Given the description of an element on the screen output the (x, y) to click on. 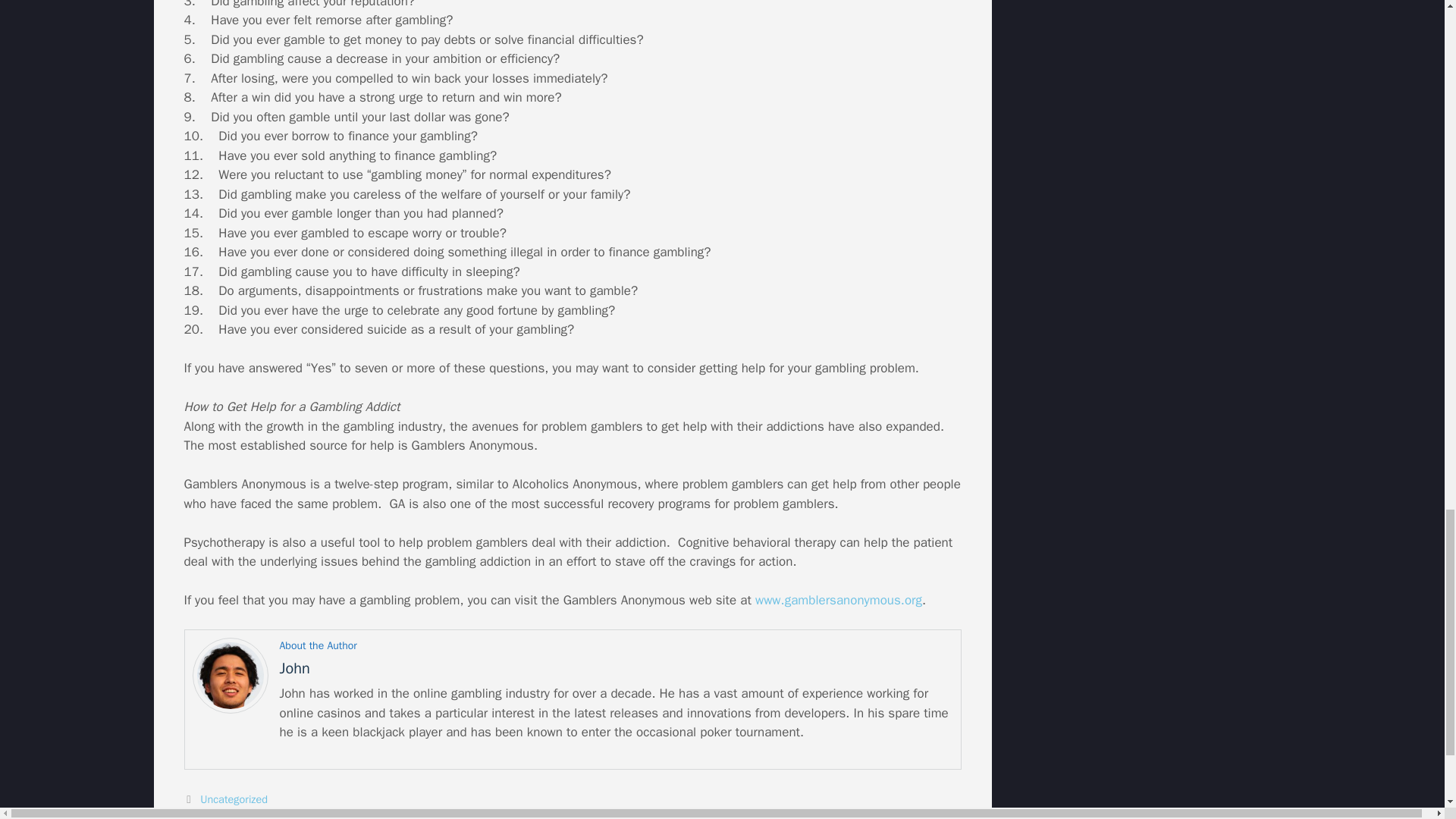
www.gamblersanonymous.org (838, 600)
